Given the description of an element on the screen output the (x, y) to click on. 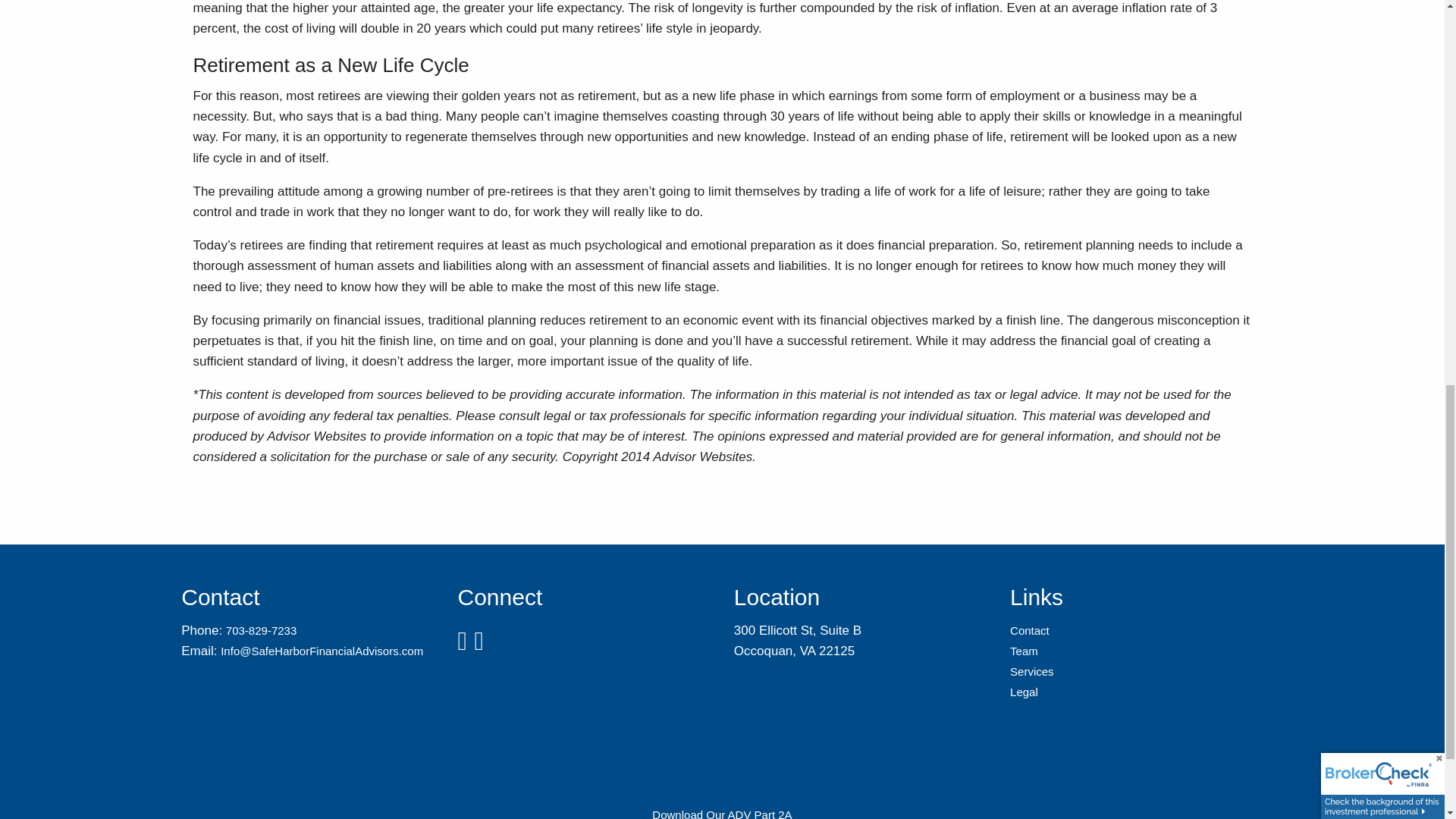
Legal, Privacy, Copyright and Trademark Information (1024, 691)
703-829-7233 (261, 630)
Contact (1029, 630)
Our Services and Fees (1032, 671)
Download Our ADV Part 2A (722, 813)
Services (1032, 671)
Legal (1024, 691)
Team (1024, 650)
Contact (1029, 630)
